Given the description of an element on the screen output the (x, y) to click on. 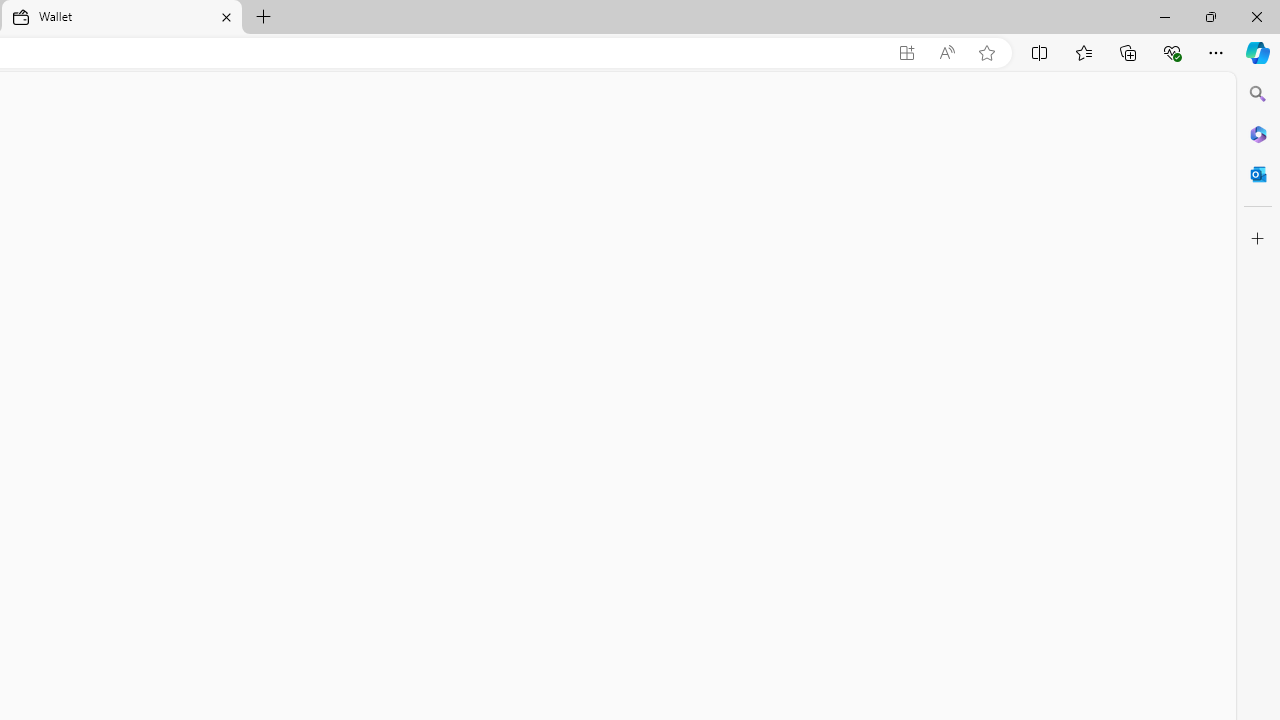
Customize (1258, 239)
